Given the description of an element on the screen output the (x, y) to click on. 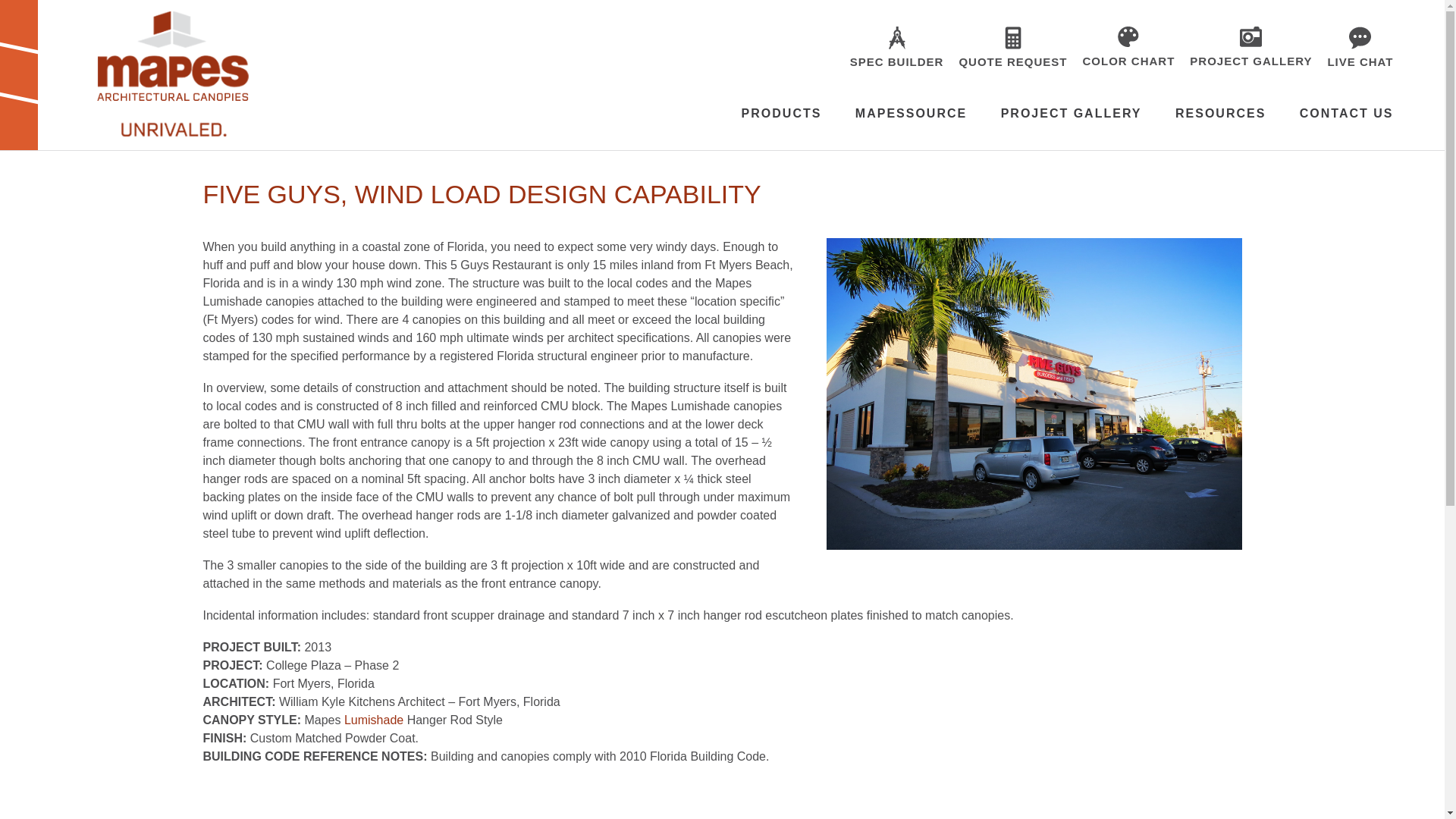
SPEC BUILDER (896, 61)
LIVE CHAT (1359, 61)
PROJECT GALLERY (1250, 60)
RESOURCES (1219, 113)
Live Chat (1359, 61)
COLOR CHART (1127, 60)
MAPESSOURCE (911, 113)
PRODUCTS (781, 113)
CONTACT US (1346, 113)
QUOTE REQUEST (1012, 61)
PROJECT GALLERY (1071, 113)
